Given the description of an element on the screen output the (x, y) to click on. 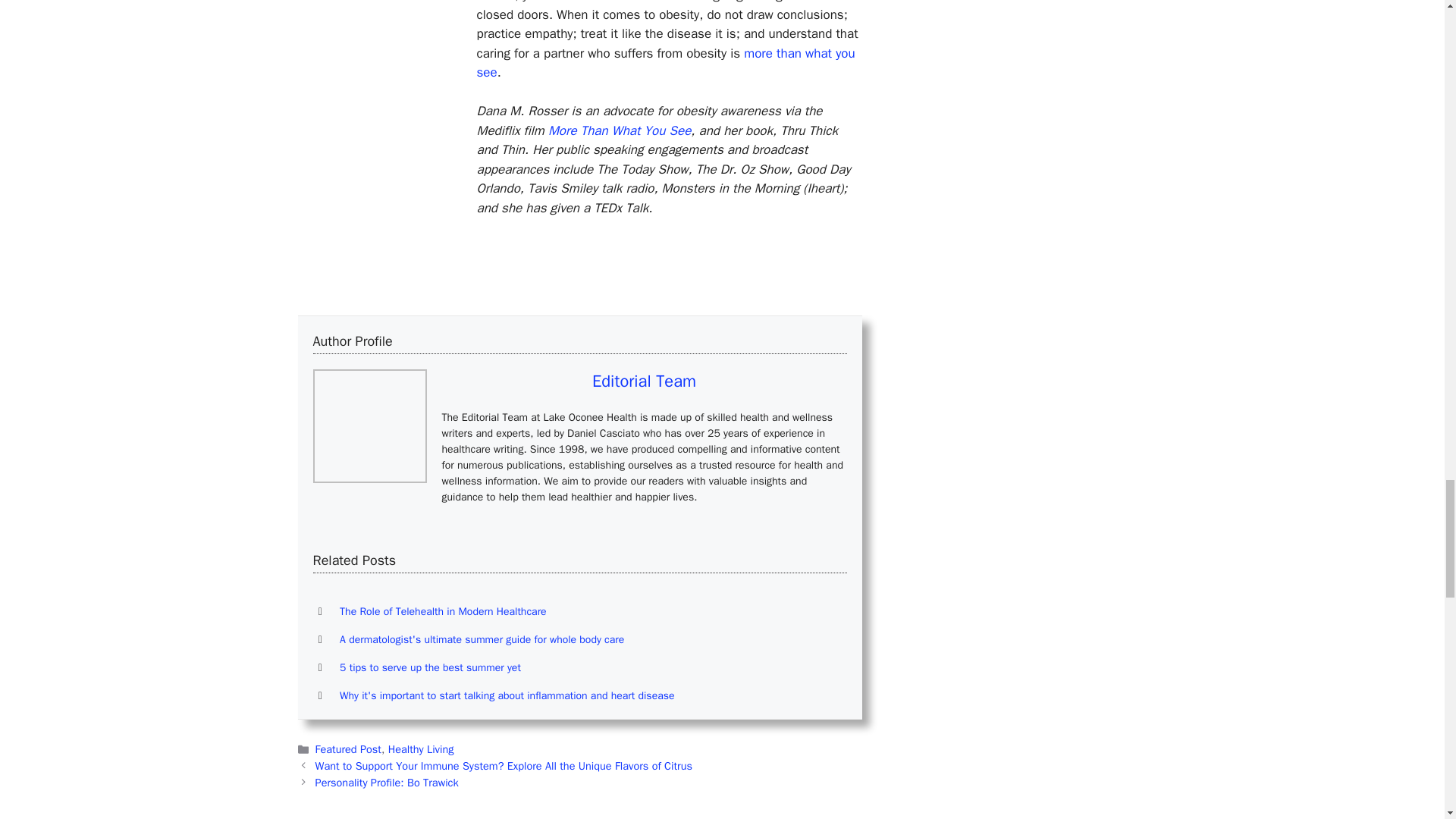
The Role of Telehealth in Modern Healthcare (443, 611)
5 tips to serve up the best summer yet (430, 667)
Featured Post (348, 748)
Healthy Living (421, 748)
Editorial Team (643, 381)
More Than What You See (619, 130)
more than what you see (665, 63)
